Given the description of an element on the screen output the (x, y) to click on. 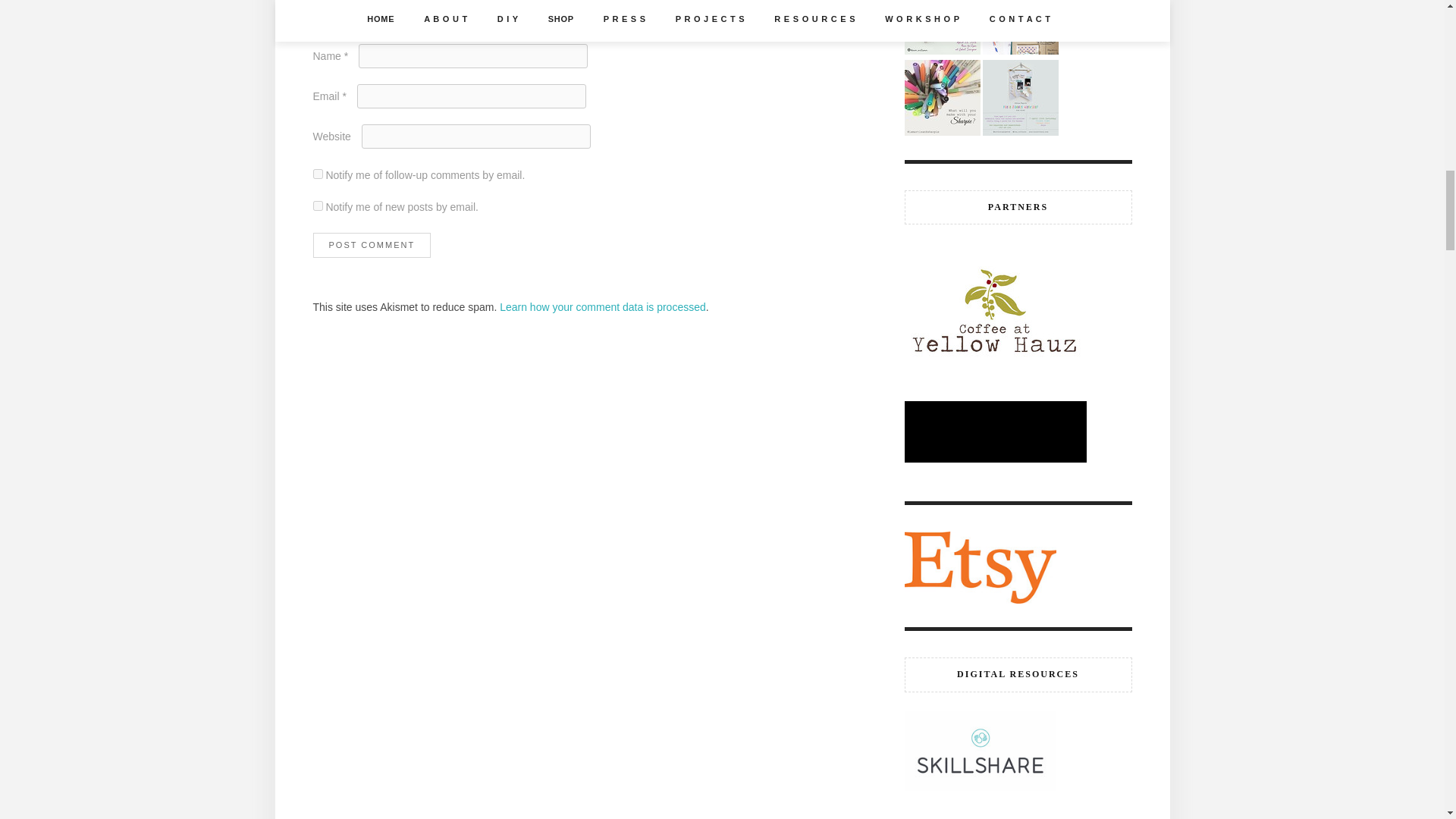
Post Comment (371, 244)
Post Comment (371, 244)
subscribe (317, 173)
subscribe (317, 205)
Learn how your comment data is processed (602, 306)
